Given the description of an element on the screen output the (x, y) to click on. 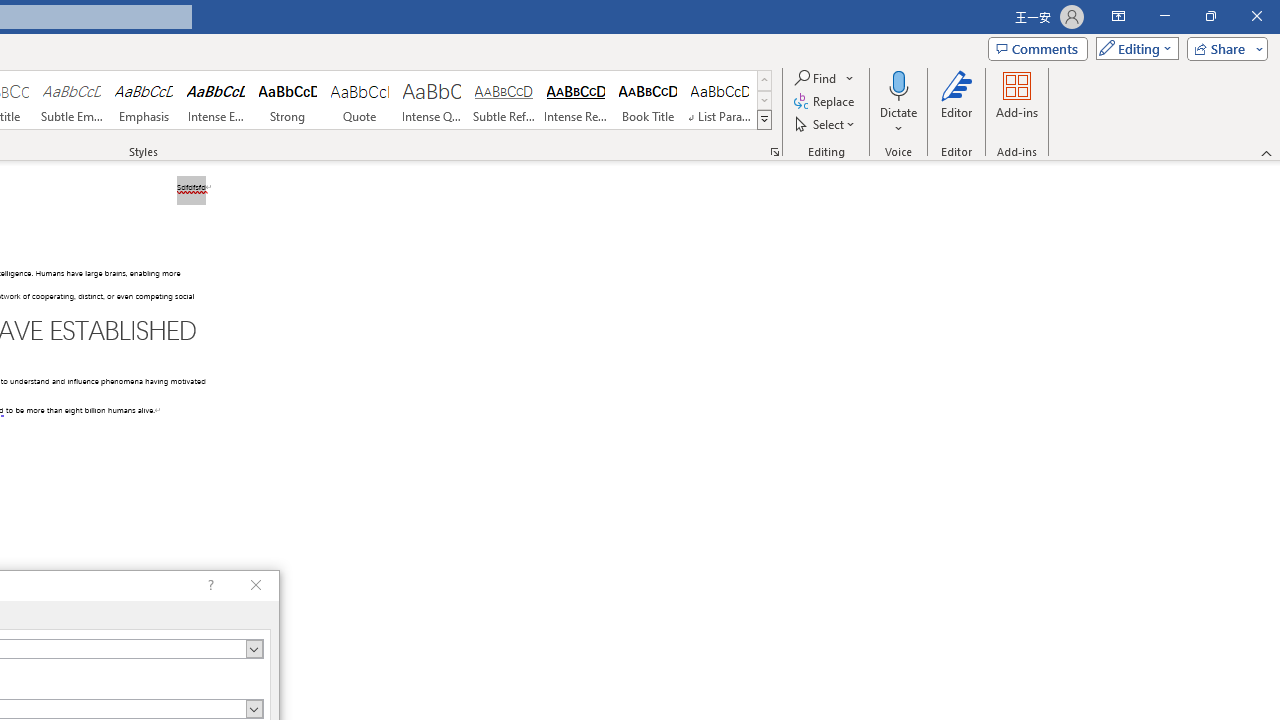
Replace... (826, 101)
Select (826, 124)
Minimize (1164, 16)
Find (824, 78)
Mode (1133, 47)
Row up (763, 79)
Find (817, 78)
Intense Quote (431, 100)
Subtle Reference (504, 100)
Styles... (774, 151)
Quote (359, 100)
Restore Down (1210, 16)
Dictate (899, 84)
